Given the description of an element on the screen output the (x, y) to click on. 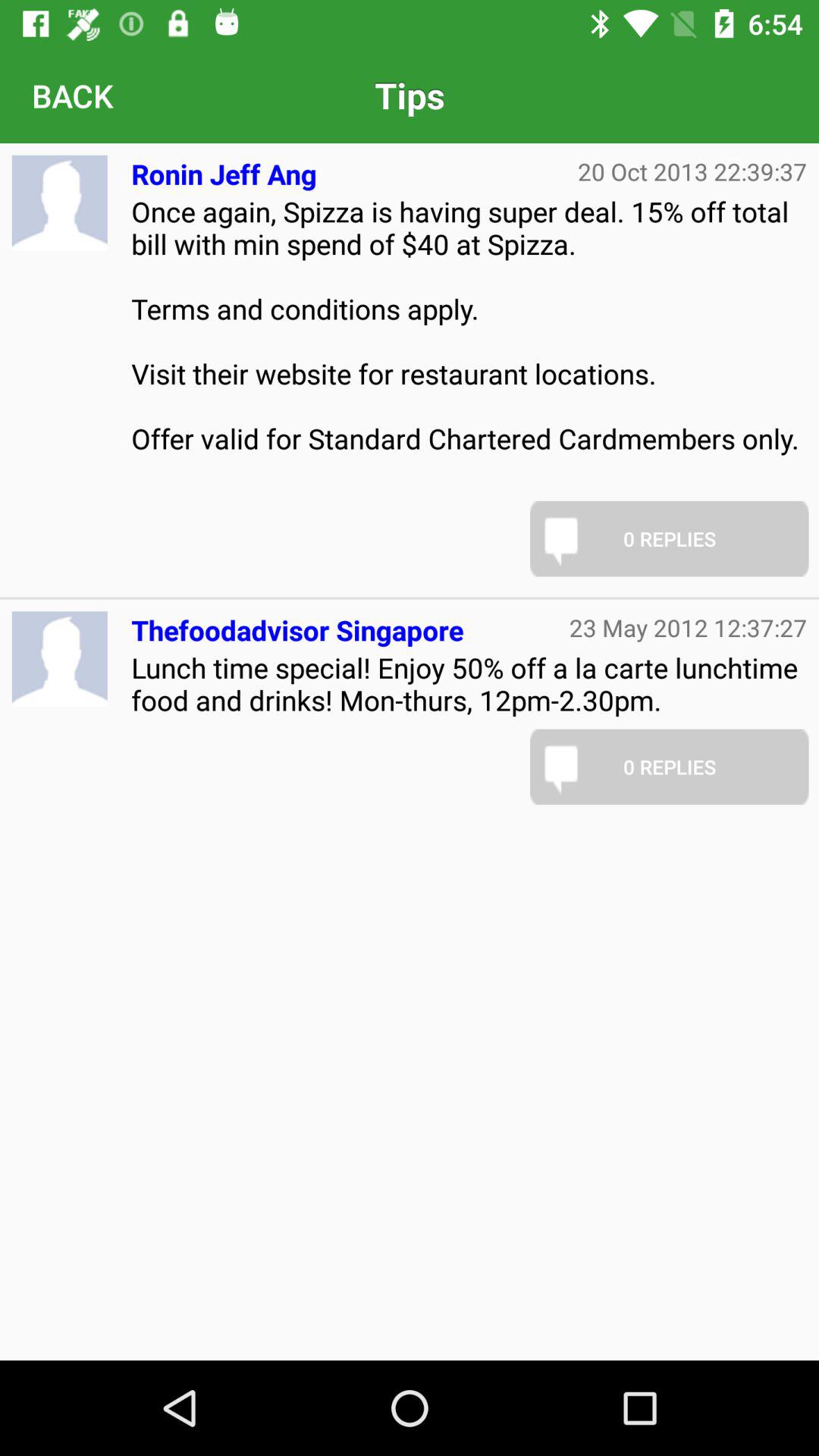
turn on the icon below the tips item (692, 171)
